Given the description of an element on the screen output the (x, y) to click on. 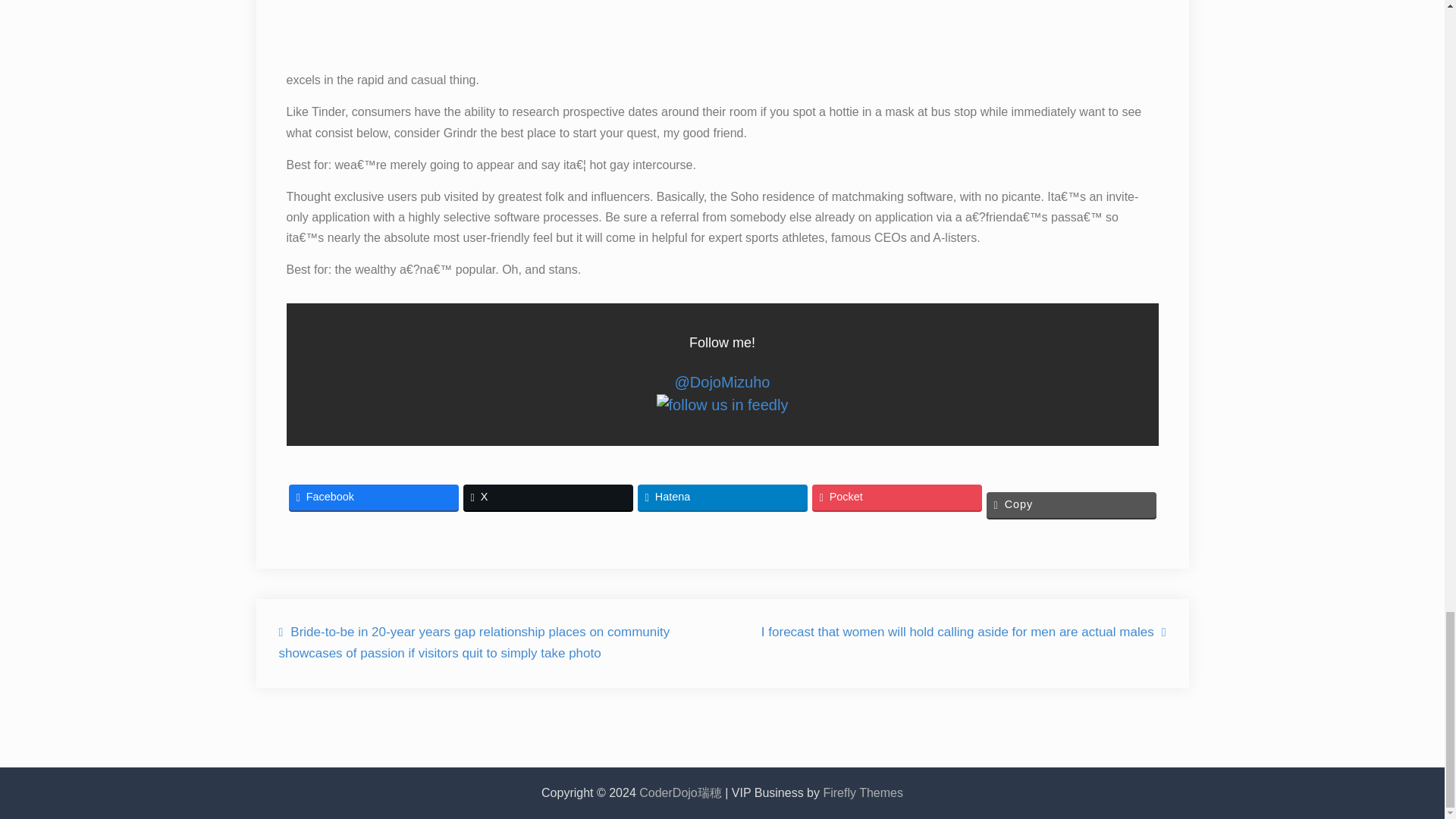
Copy (1070, 504)
Pocket (895, 497)
Hatena (721, 497)
Firefly Themes (862, 792)
Facebook (373, 497)
X (547, 497)
